Given the description of an element on the screen output the (x, y) to click on. 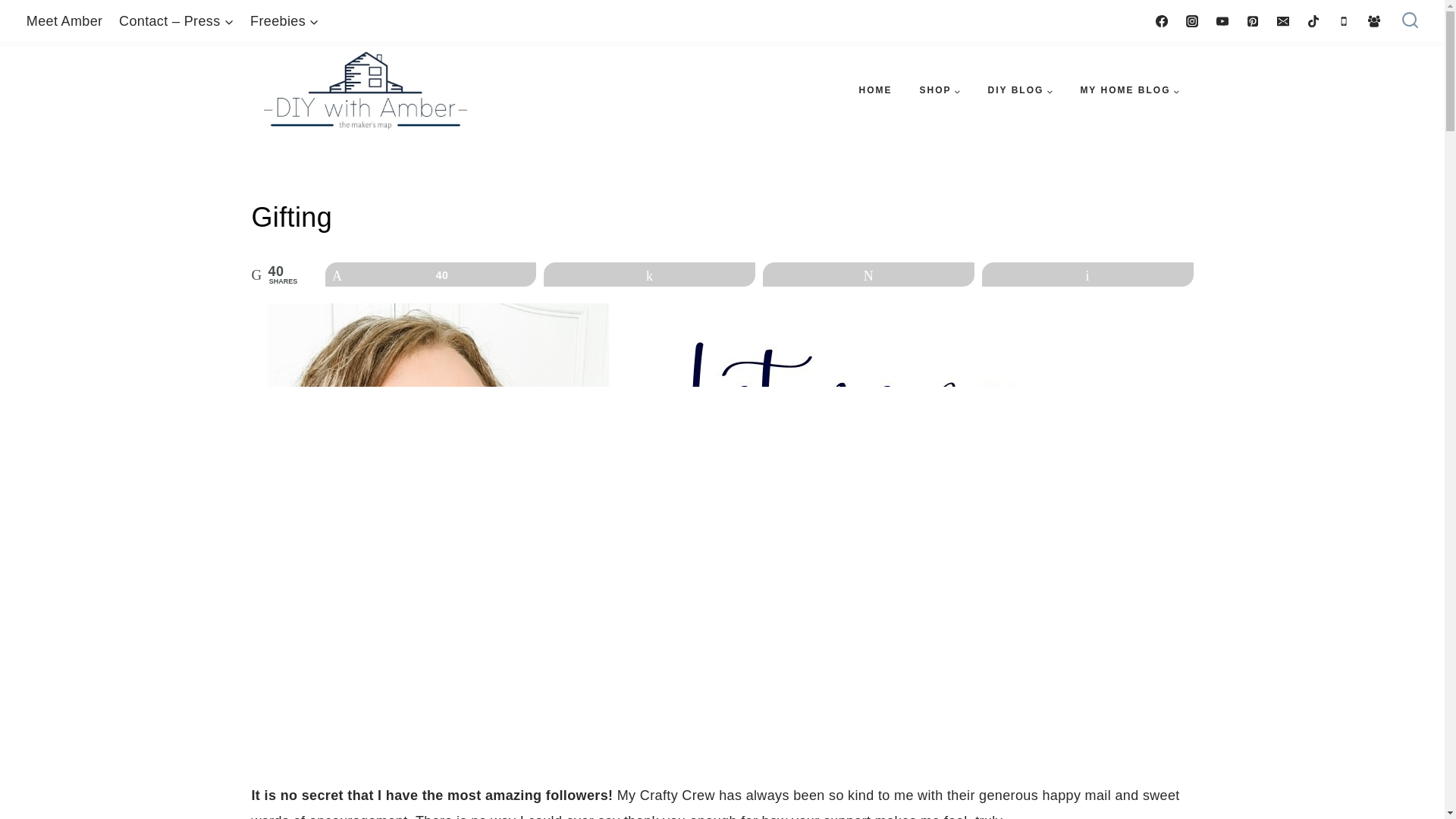
DIY BLOG (1020, 90)
HOME (875, 90)
Freebies (284, 21)
Meet Amber (63, 21)
SHOP (939, 90)
